Given the description of an element on the screen output the (x, y) to click on. 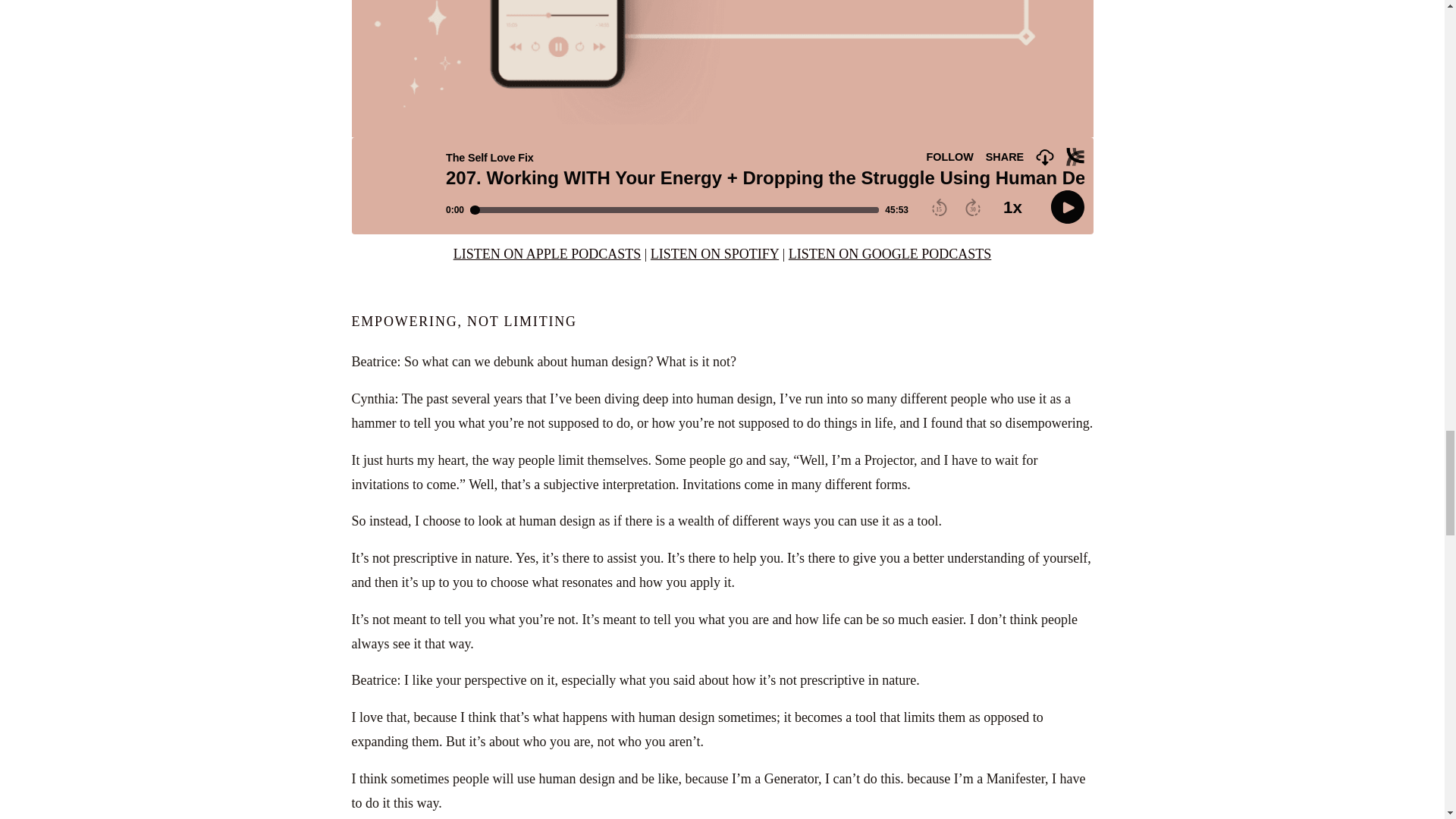
LISTEN ON APPLE PODCASTS (547, 253)
LISTEN ON SPOTIFY (714, 253)
LISTEN ON GOOGLE PODCASTS (890, 253)
